Given the description of an element on the screen output the (x, y) to click on. 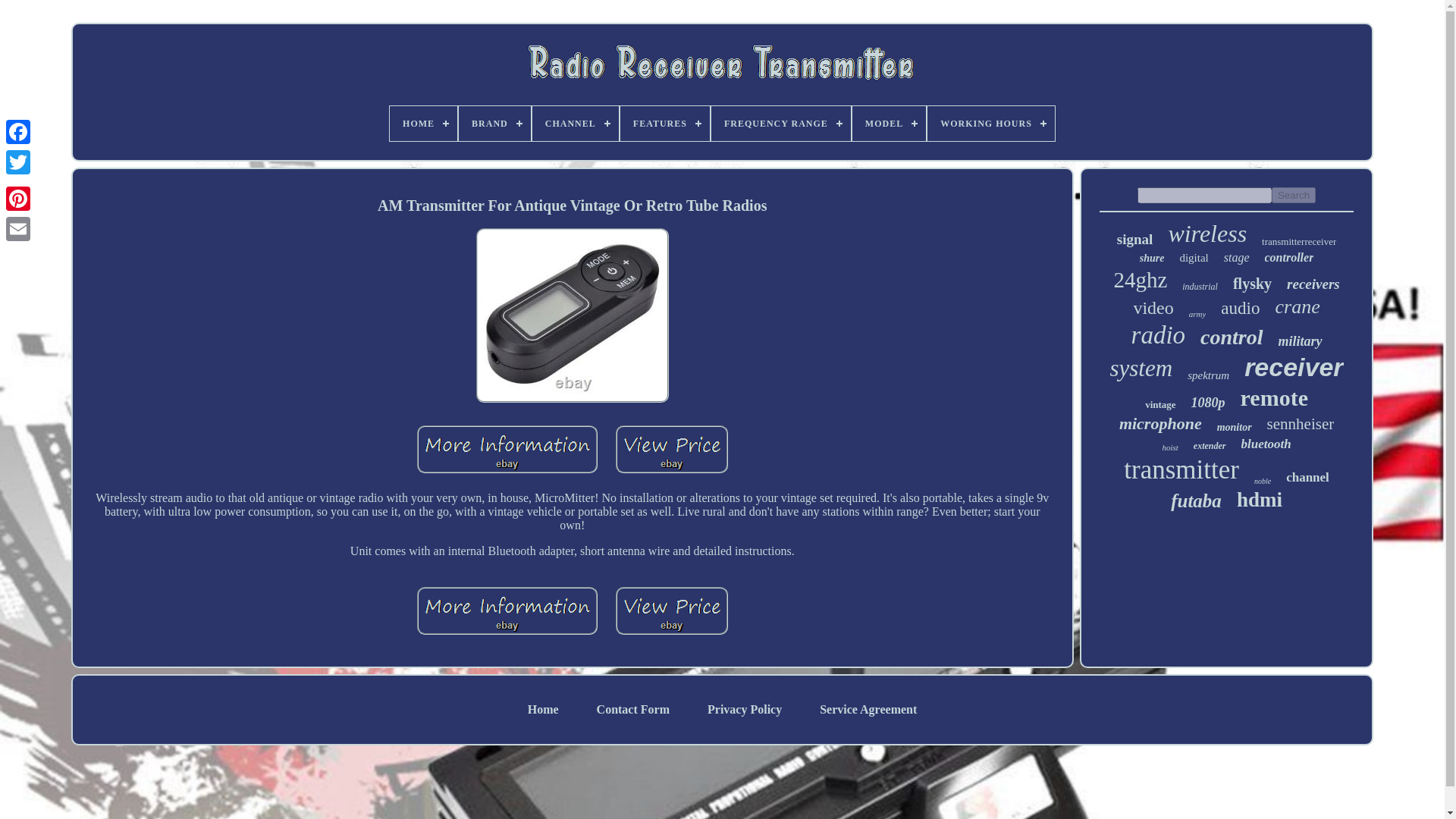
BRAND (494, 123)
Twitter (17, 162)
Search (1293, 195)
AM Transmitter For Antique Vintage Or Retro Tube Radios (671, 449)
FEATURES (665, 123)
CHANNEL (575, 123)
AM Transmitter For Antique Vintage Or Retro Tube Radios (506, 449)
HOME (423, 123)
AM Transmitter For Antique Vintage Or Retro Tube Radios (572, 315)
AM Transmitter For Antique Vintage Or Retro Tube Radios (671, 610)
AM Transmitter For Antique Vintage Or Retro Tube Radios (506, 610)
